Given the description of an element on the screen output the (x, y) to click on. 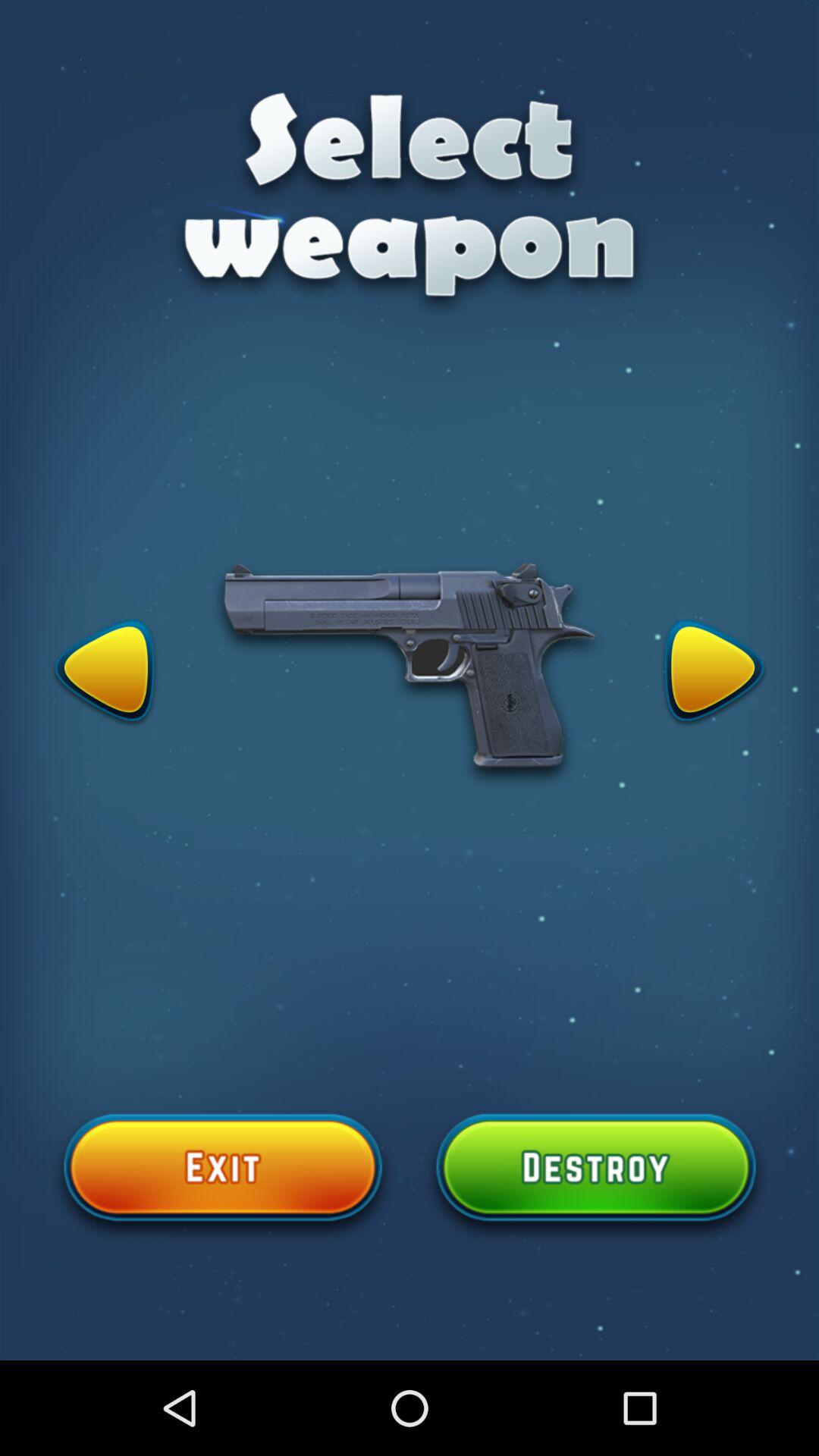
turn off icon on the right (714, 673)
